Given the description of an element on the screen output the (x, y) to click on. 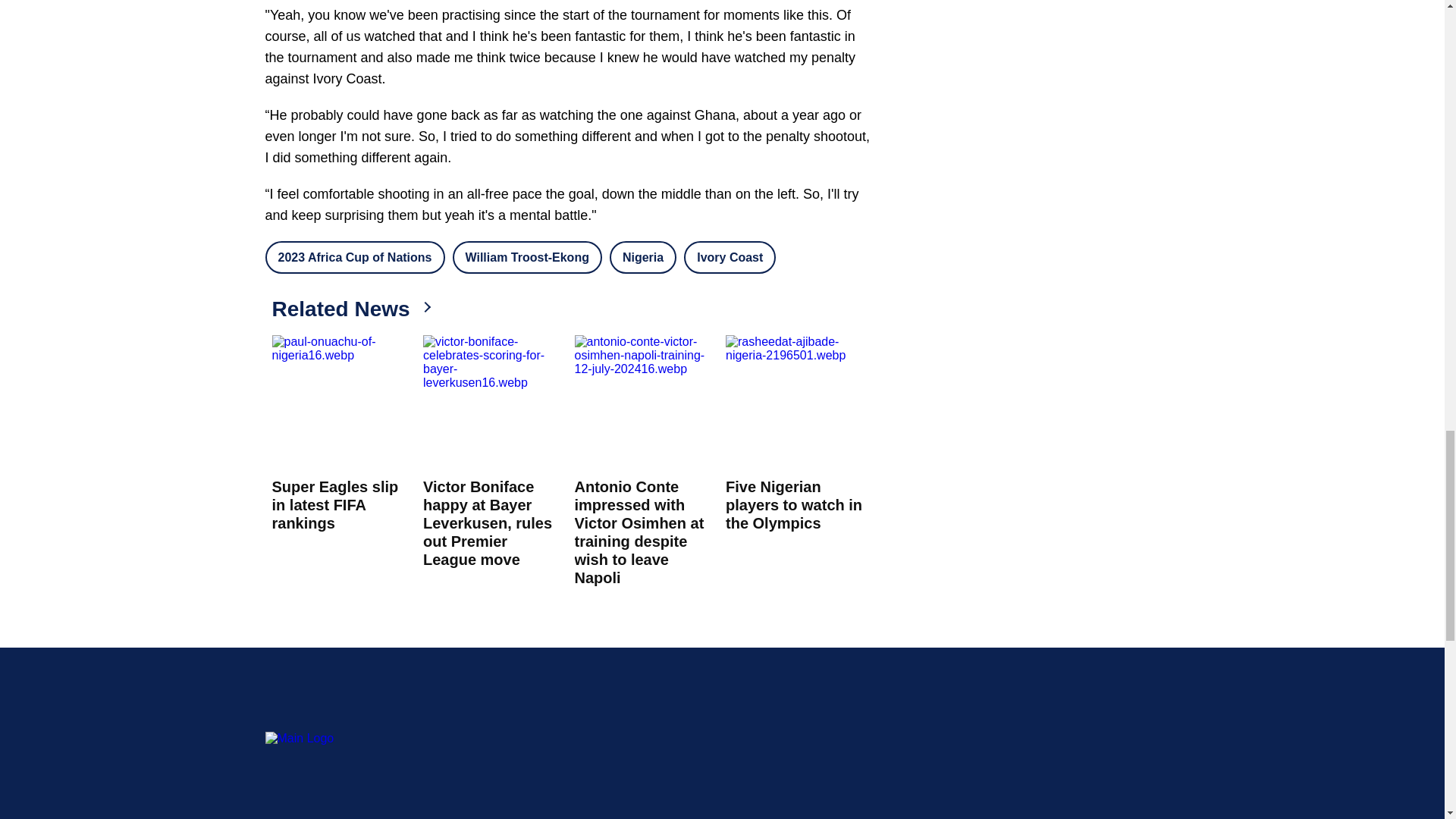
2023 Africa Cup of Nations (354, 256)
Nigeria (643, 256)
Ivory Coast (730, 256)
William Troost-Ekong (527, 256)
